Given the description of an element on the screen output the (x, y) to click on. 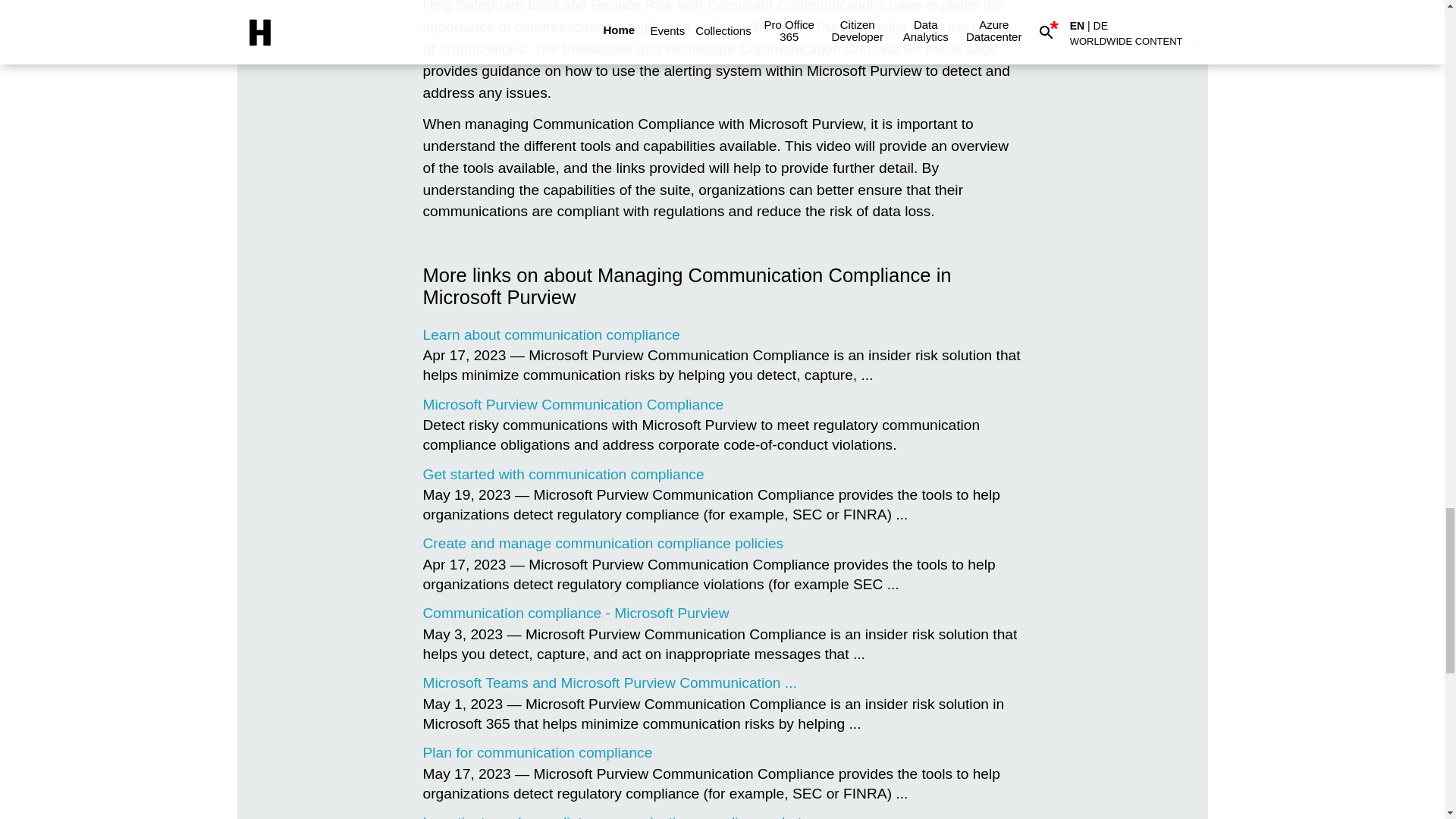
Investigate and remediate communication compliance alerts (616, 816)
Microsoft Purview Communication Compliance (573, 404)
Communication compliance - Microsoft Purview (576, 612)
Plan for communication compliance (537, 752)
Create and manage communication compliance policies (603, 543)
Get started with communication compliance (563, 473)
Learn about communication compliance (551, 334)
Microsoft Teams and Microsoft Purview Communication ... (609, 682)
